Given the description of an element on the screen output the (x, y) to click on. 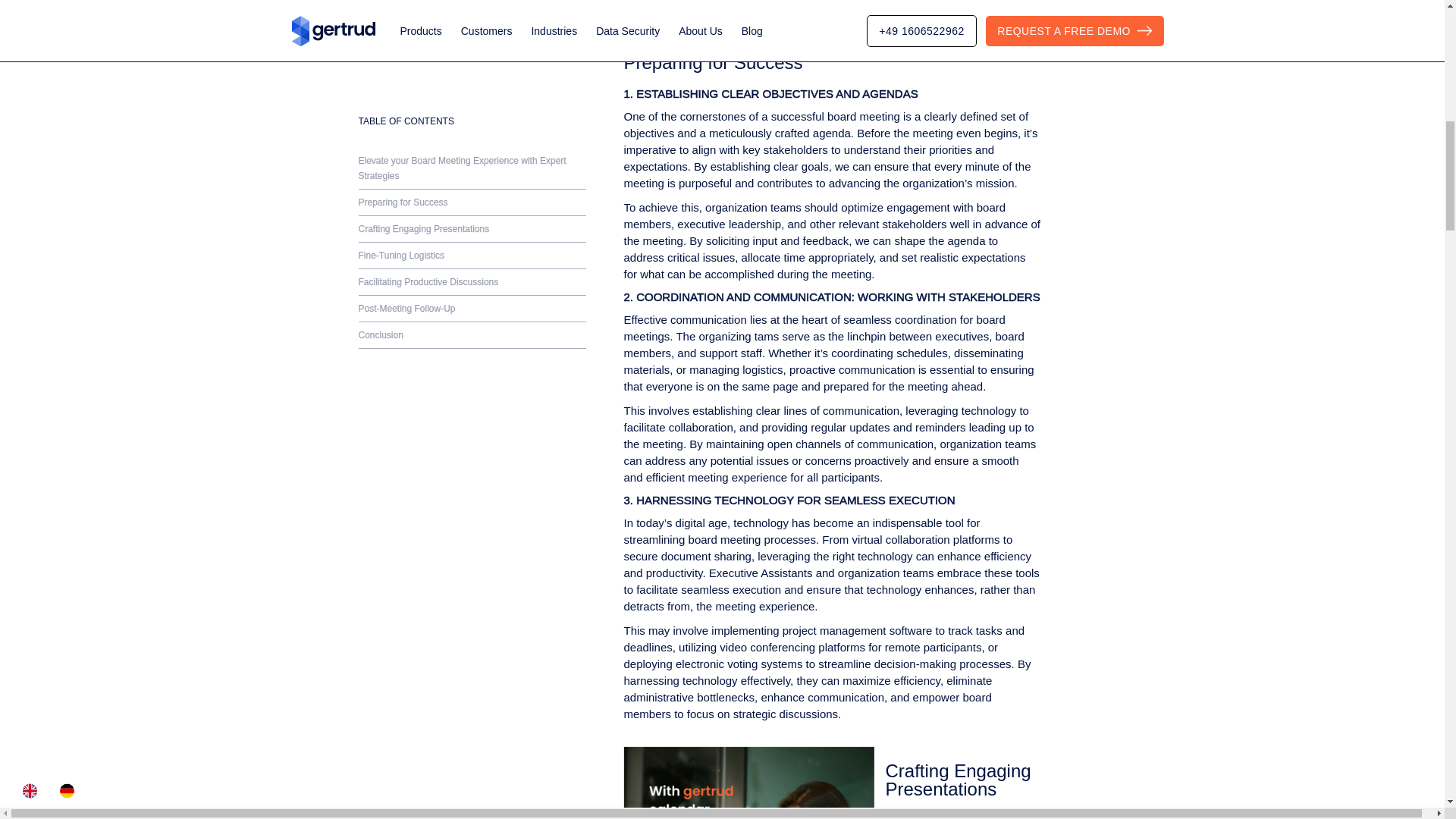
Facilitating Productive Discussions (471, 38)
Conclusion (471, 91)
Post-Meeting Follow-Up (471, 65)
Fine-Tuning Logistics (471, 12)
